Given the description of an element on the screen output the (x, y) to click on. 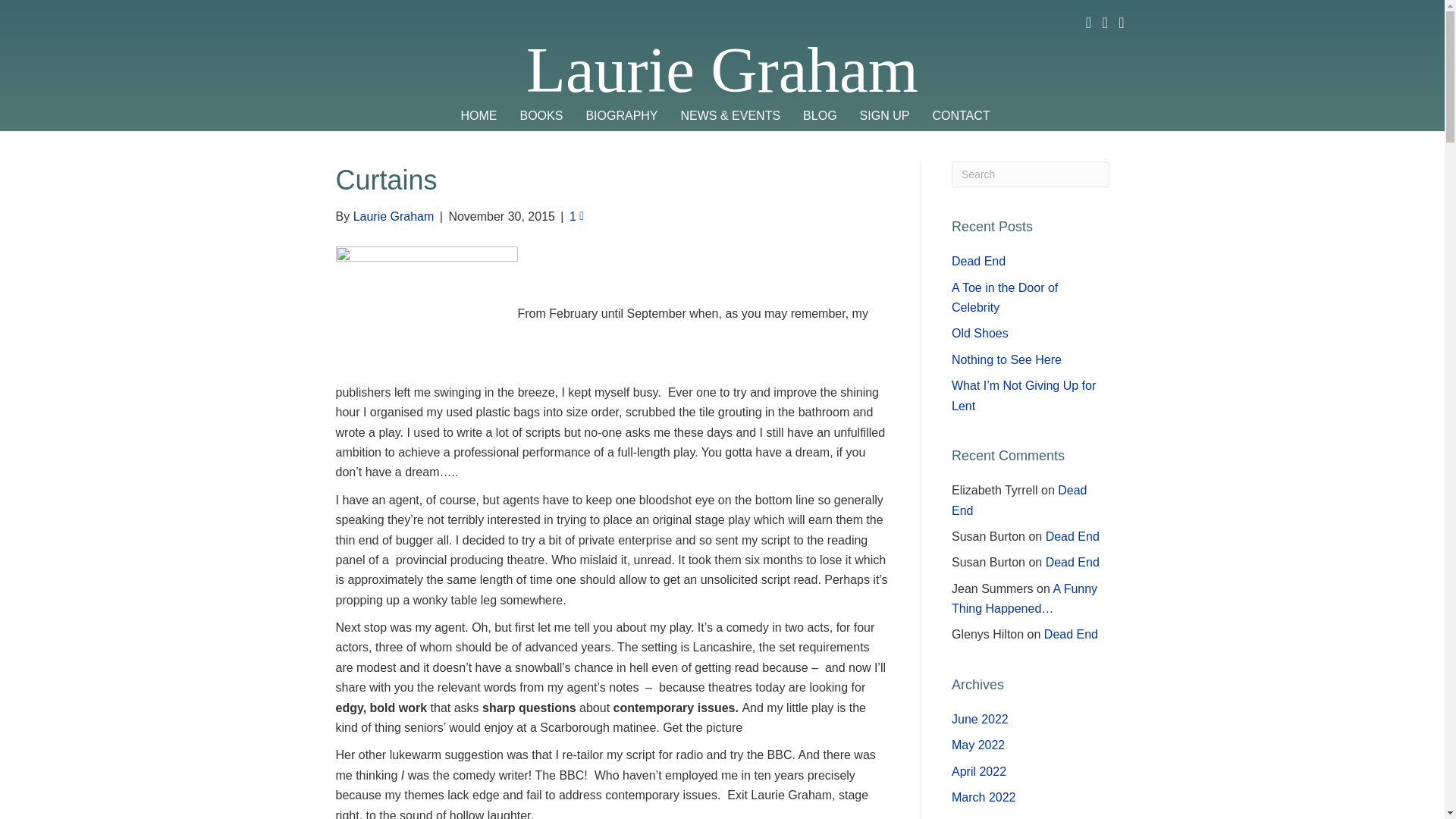
May 2022 (978, 744)
March 2022 (984, 797)
Dead End (1072, 535)
Laurie Graham (721, 69)
April 2022 (979, 771)
1 (576, 215)
CONTACT (960, 115)
BLOG (819, 115)
Dead End (1019, 500)
HOME (478, 115)
